Given the description of an element on the screen output the (x, y) to click on. 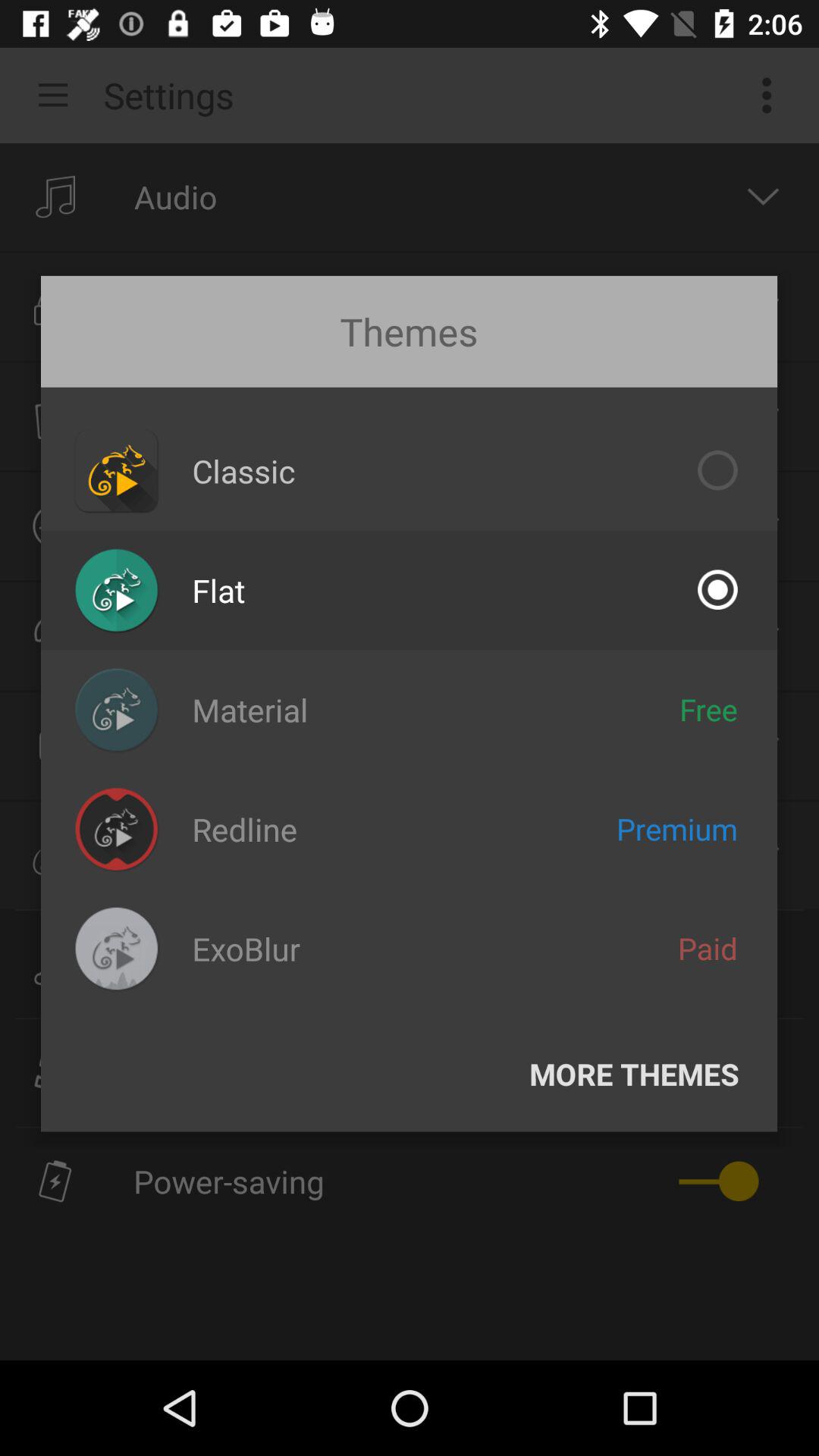
open the icon next to free item (250, 709)
